Given the description of an element on the screen output the (x, y) to click on. 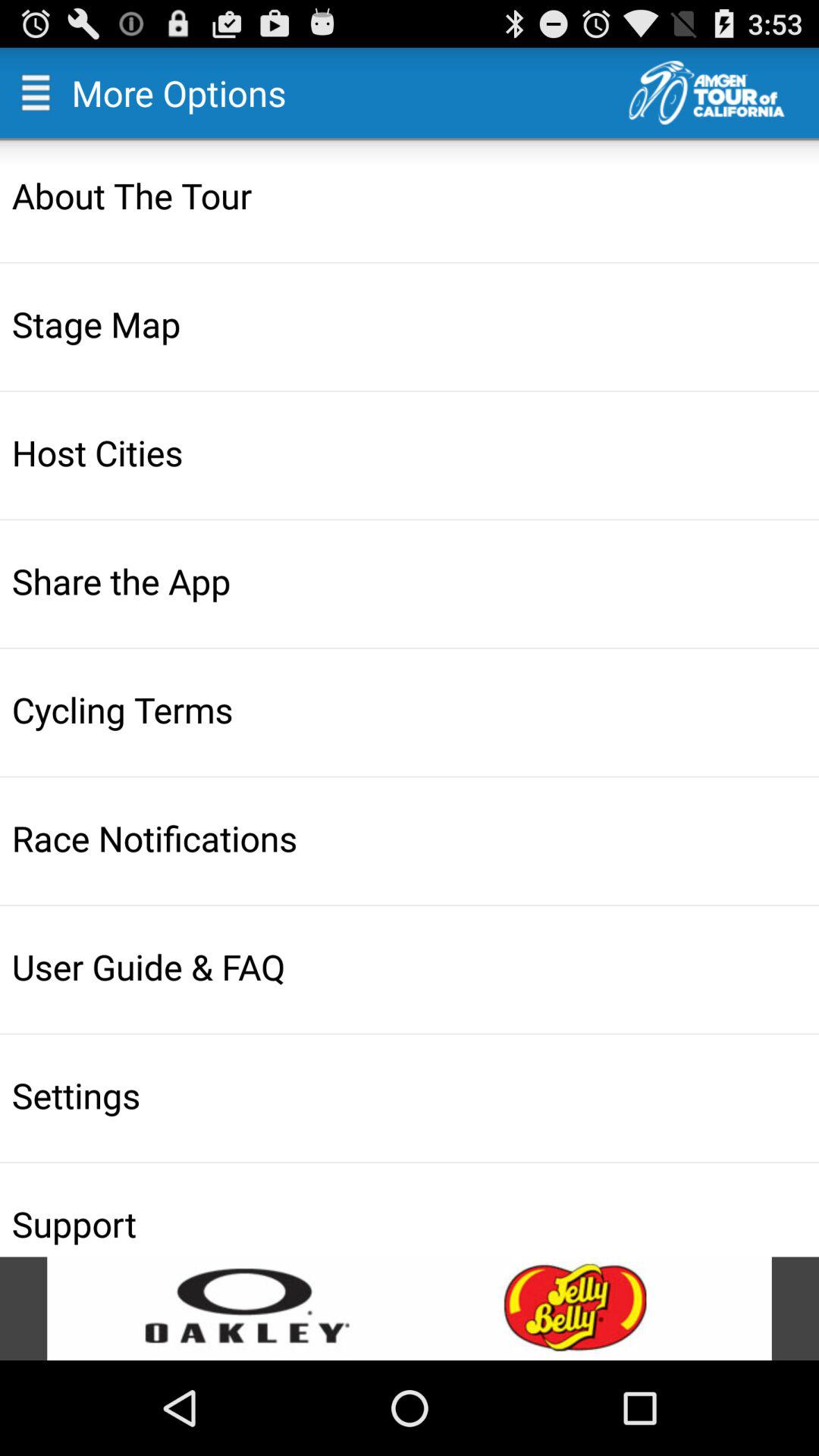
turn on the item below user guide & faq icon (411, 1094)
